Given the description of an element on the screen output the (x, y) to click on. 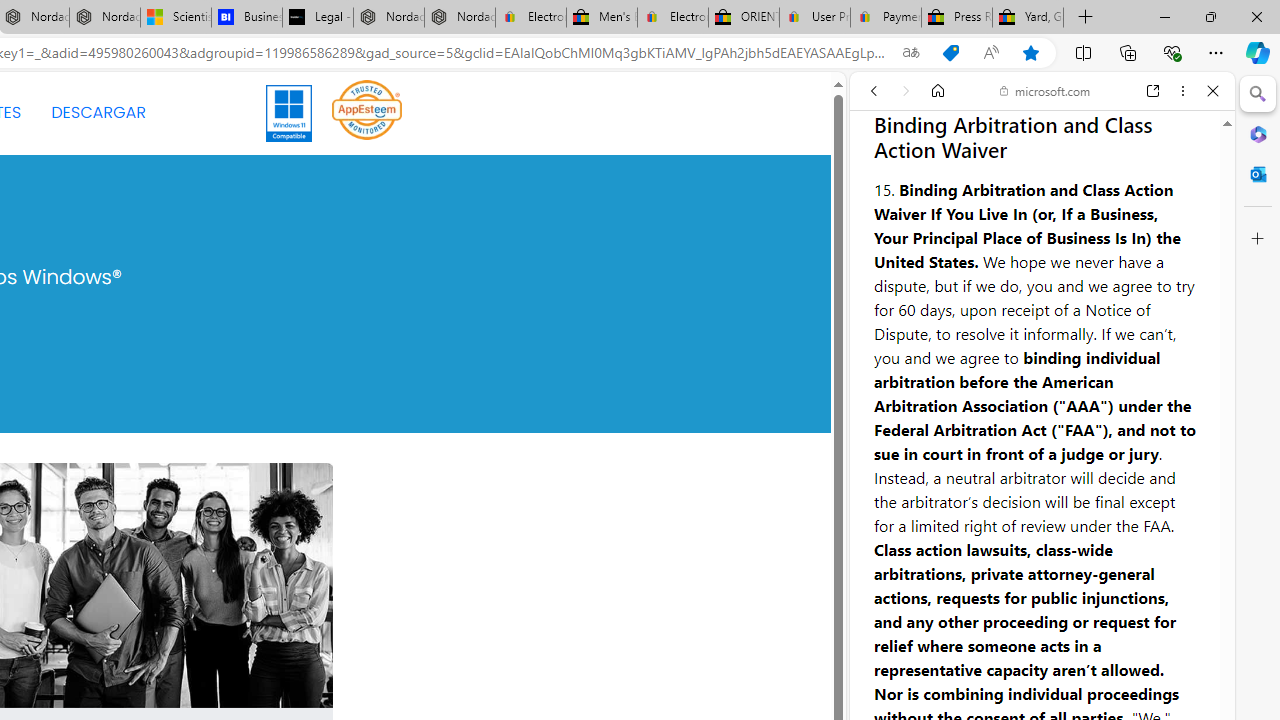
Search the web (1051, 137)
More options (1182, 91)
Windows 11 (289, 112)
Yard, Garden & Outdoor Living (1028, 17)
This site scope (936, 180)
Home (938, 91)
Minimize Search pane (1258, 94)
